Given the description of an element on the screen output the (x, y) to click on. 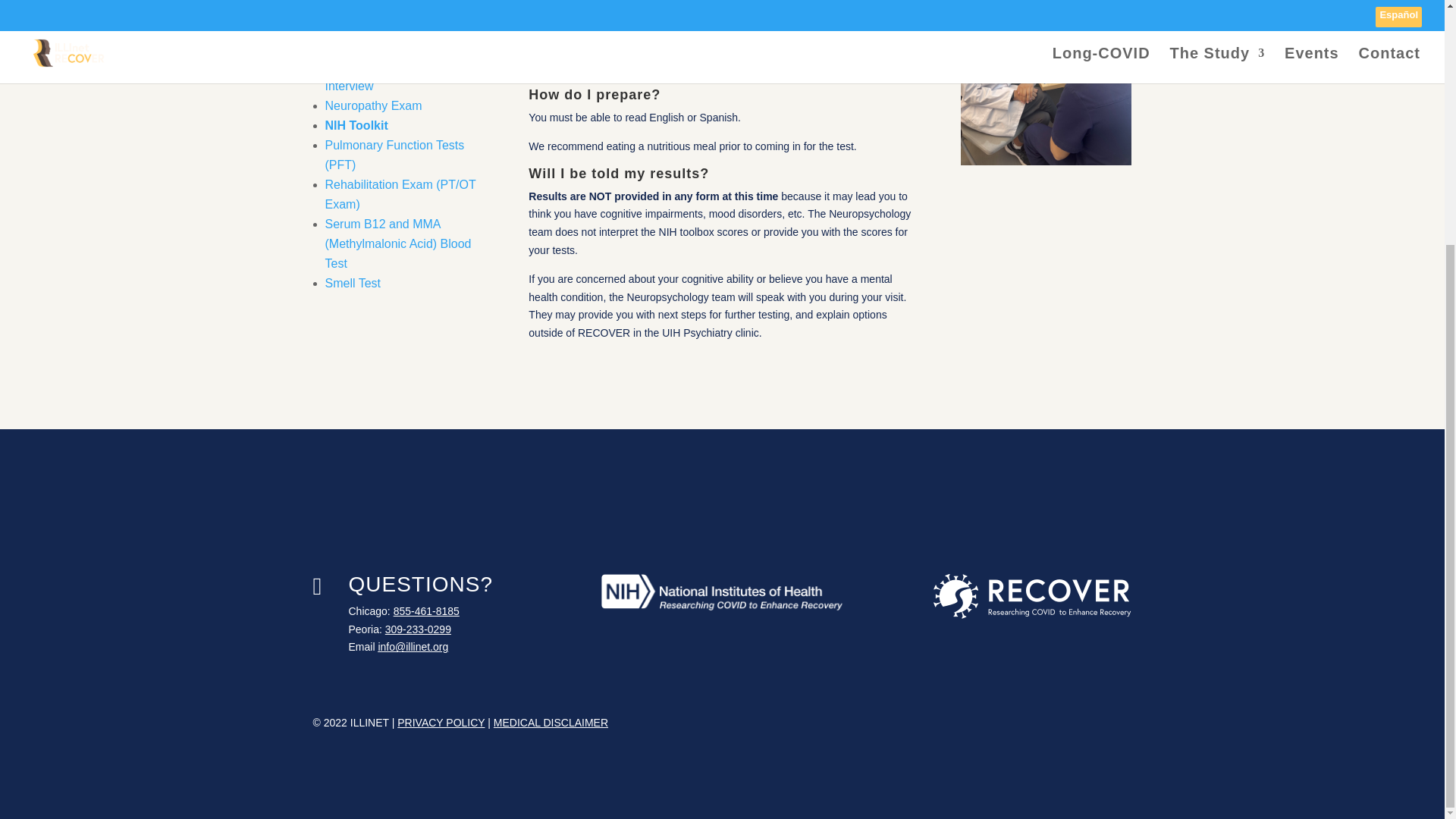
Smell Test (352, 282)
MEDICAL DISCLAIMER (550, 722)
NIH Toolkit (355, 124)
PRIVACY POLICY (440, 722)
Neuropathy Exam (373, 105)
855-461-8185 (426, 611)
recoverLogoWhite (1032, 596)
MINI Neuropsychiatric Interview (384, 75)
NIH Toolkit (1045, 82)
309-233-0299 (418, 629)
